Given the description of an element on the screen output the (x, y) to click on. 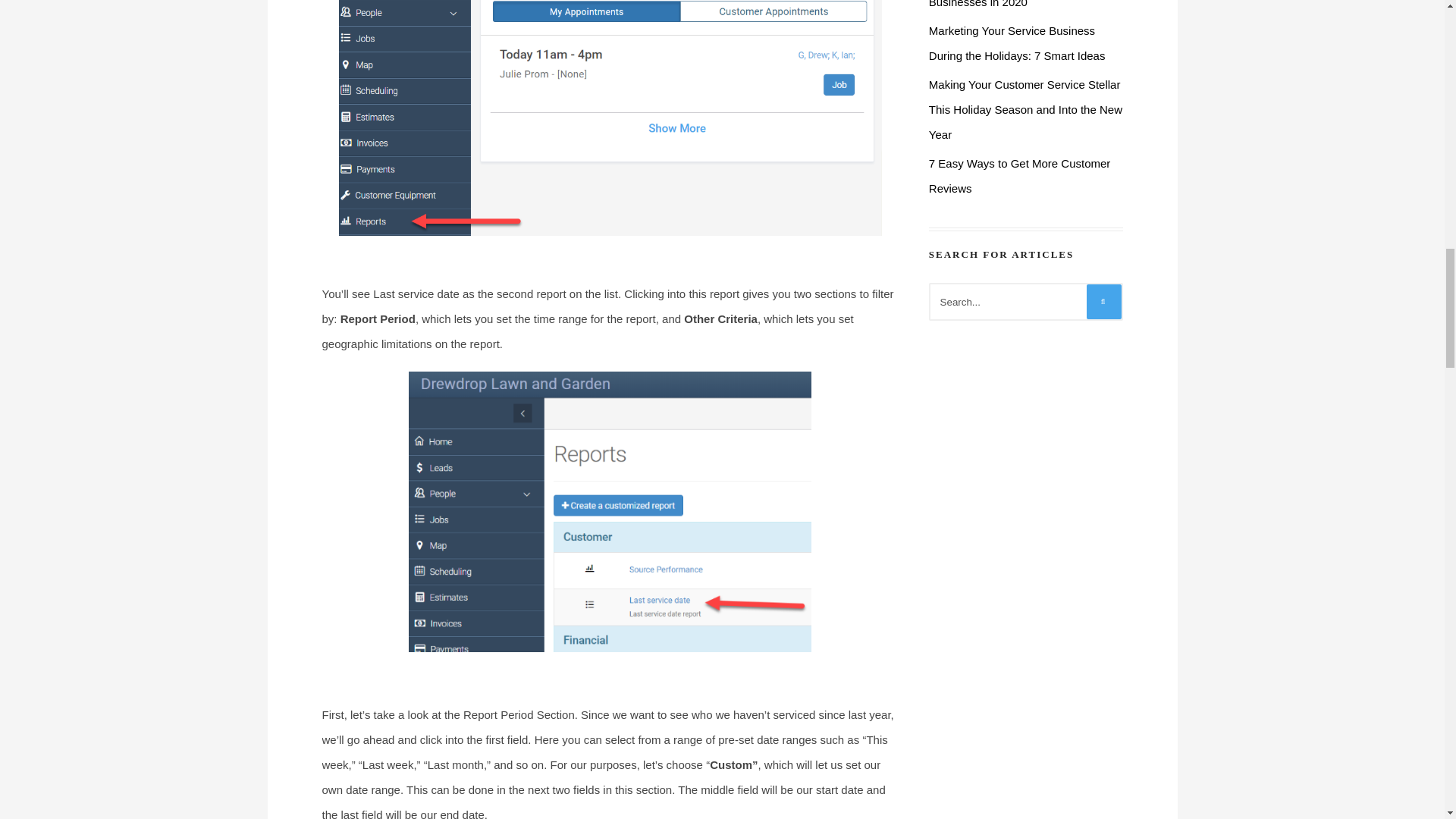
Search... (1025, 301)
